Given the description of an element on the screen output the (x, y) to click on. 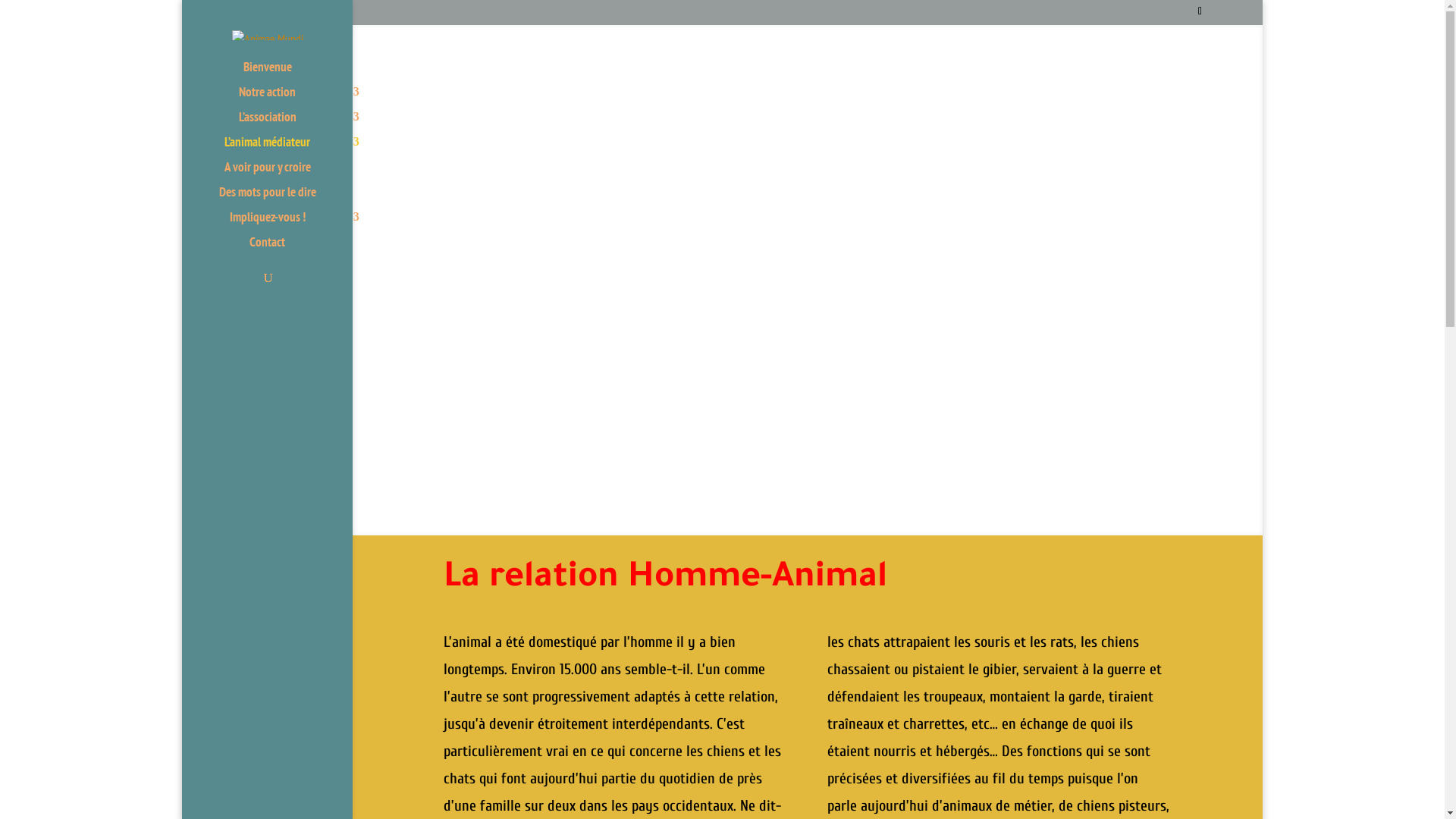
Impliquez-vous ! Element type: text (282, 223)
Bienvenue Element type: text (282, 73)
Des mots pour le dire Element type: text (282, 198)
Contact Element type: text (282, 248)
A voir pour y croire Element type: text (282, 173)
Notre action Element type: text (282, 98)
